Given the description of an element on the screen output the (x, y) to click on. 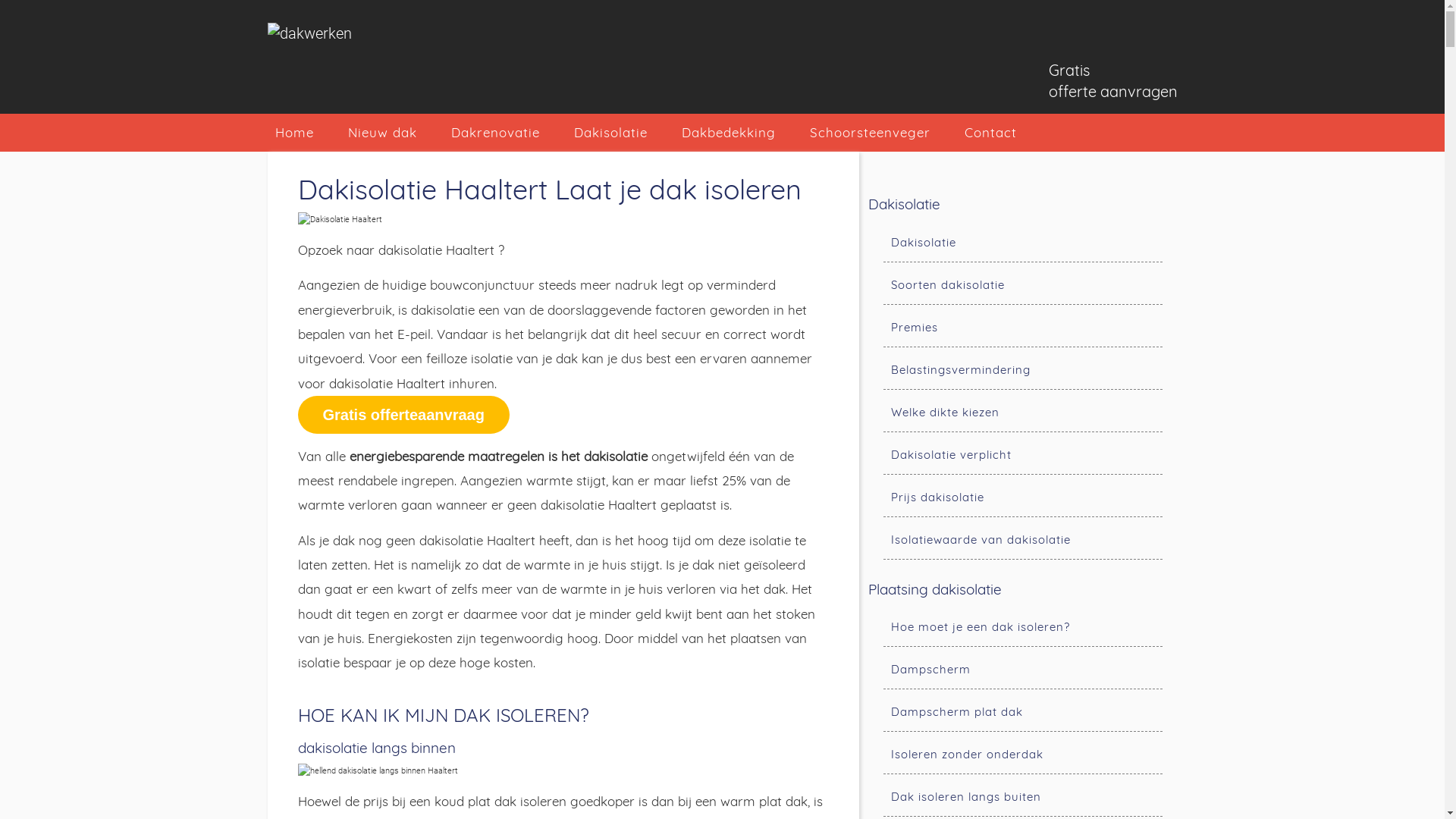
Dampscherm plat dak Element type: text (1012, 712)
Schoorsteenveger Element type: text (869, 132)
Nieuw dak Element type: text (381, 132)
Dakisolatie Element type: text (1012, 242)
Dakisolatie verplicht Element type: text (1012, 454)
Isolatiewaarde van dakisolatie Element type: text (1012, 539)
Home Element type: text (293, 132)
Dakrenovatie Element type: text (494, 132)
Dampscherm Element type: text (1012, 669)
dakwerken Element type: hover (308, 32)
Prijs dakisolatie Element type: text (1012, 497)
Belastingsvermindering Element type: text (1012, 370)
Dakisolatie Haaltert Element type: hover (339, 219)
Welke dikte kiezen Element type: text (1012, 412)
Isoleren zonder onderdak Element type: text (1012, 754)
Dakbedekking Element type: text (727, 132)
Hoe moet je een dak isoleren? Element type: text (1012, 627)
Contact Element type: text (990, 132)
Gratis
offerte aanvragen Element type: text (1112, 80)
Dakisolatie Element type: text (609, 132)
Soorten dakisolatie Element type: text (1012, 285)
Premies Element type: text (1012, 327)
Dak isoleren langs buiten Element type: text (1012, 796)
Gratis offerteaanvraag Element type: text (402, 414)
